Given the description of an element on the screen output the (x, y) to click on. 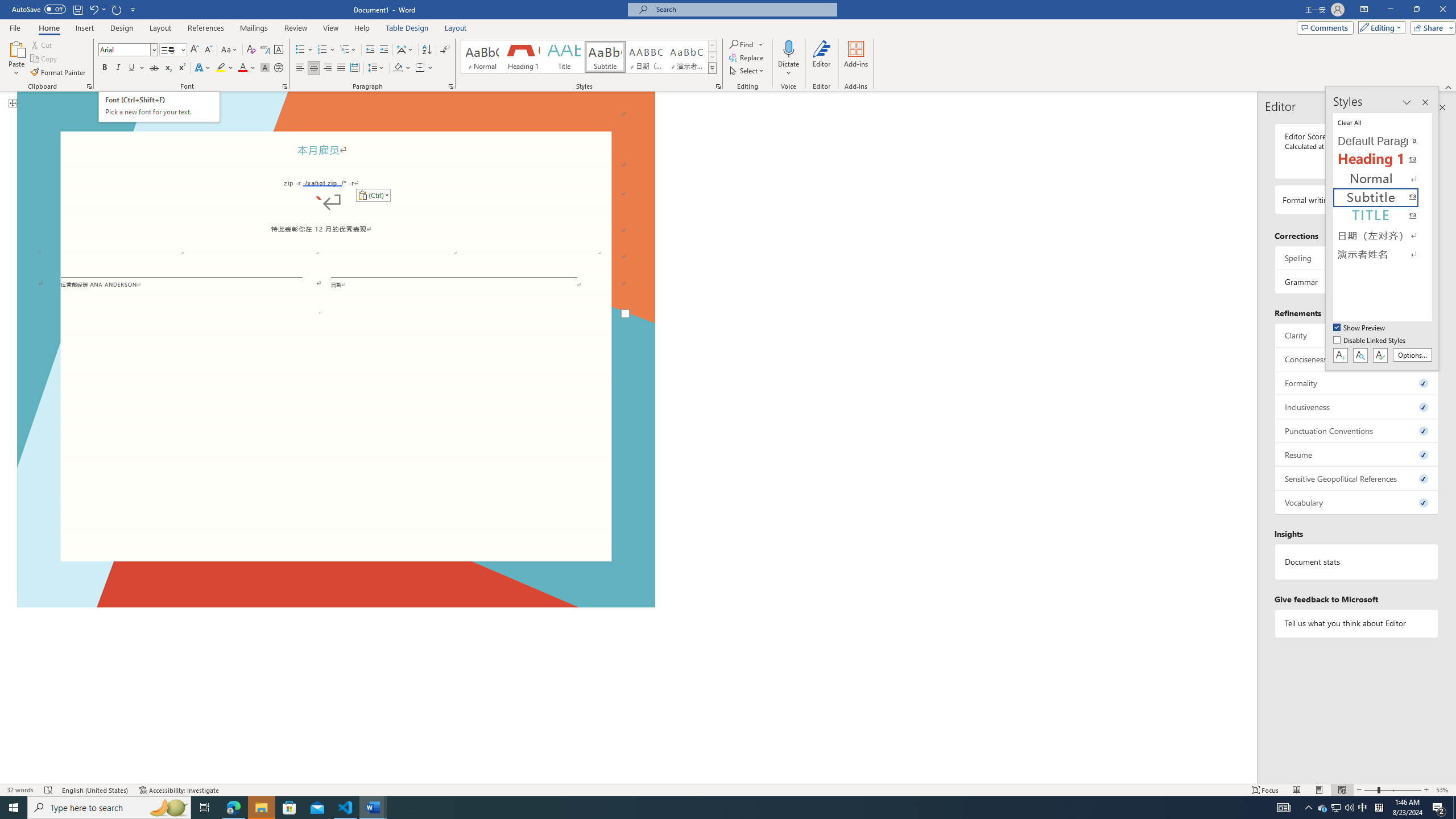
Undo Paste (96, 9)
